Given the description of an element on the screen output the (x, y) to click on. 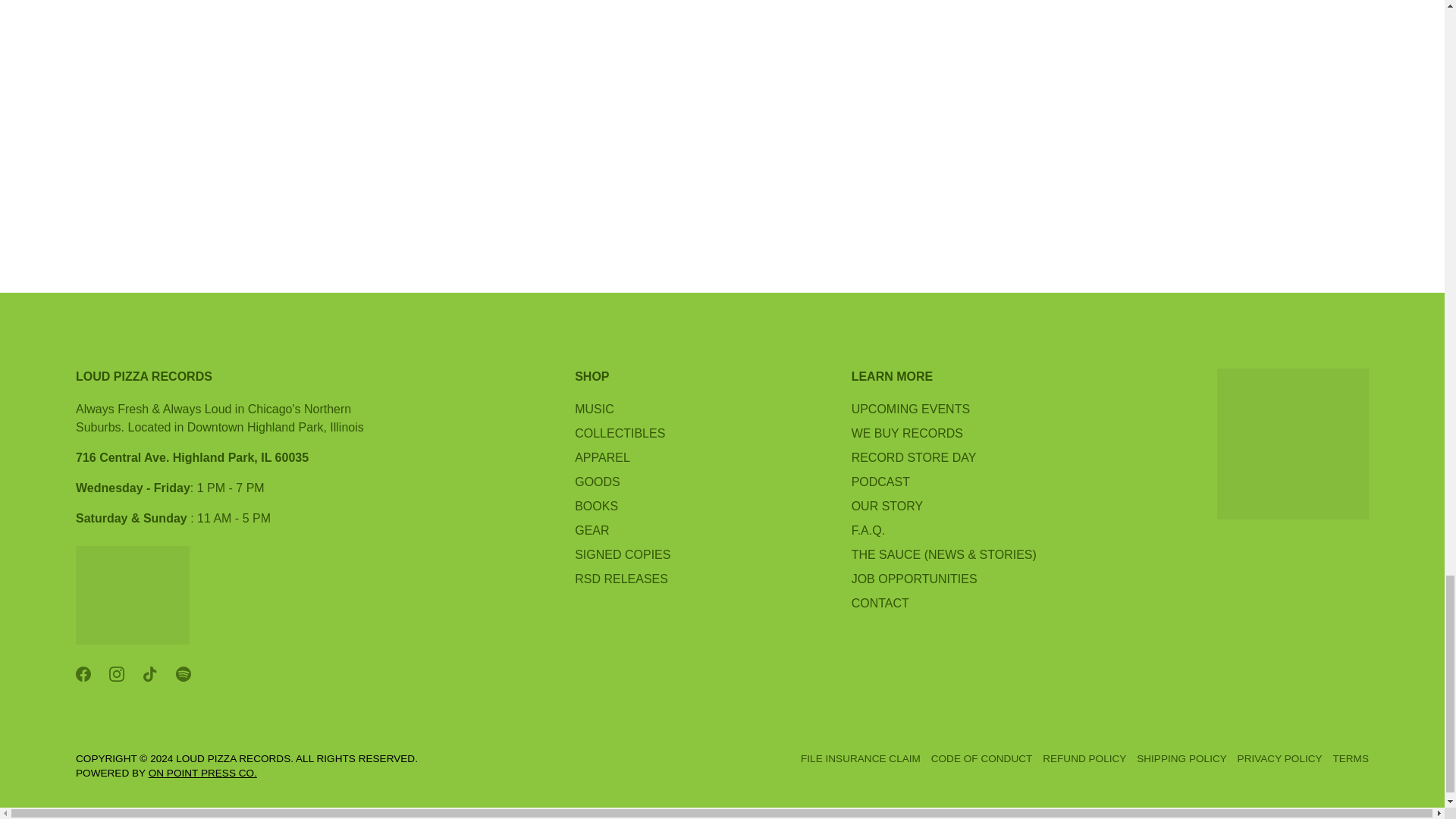
Instagram (116, 673)
